Given the description of an element on the screen output the (x, y) to click on. 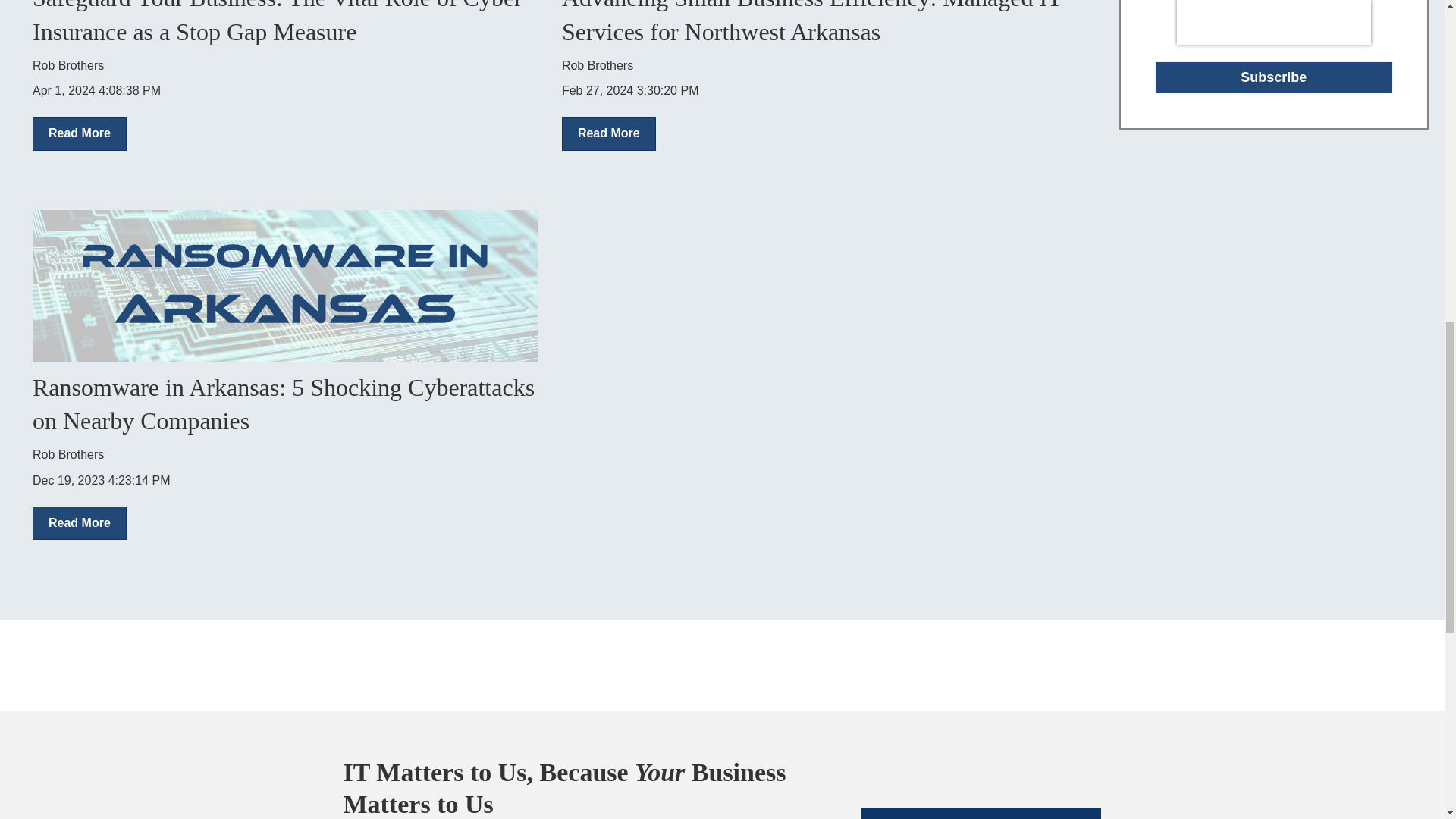
Subscribe (1273, 77)
Rob Brothers (67, 65)
reCAPTCHA (1273, 22)
Read More (79, 133)
